Given the description of an element on the screen output the (x, y) to click on. 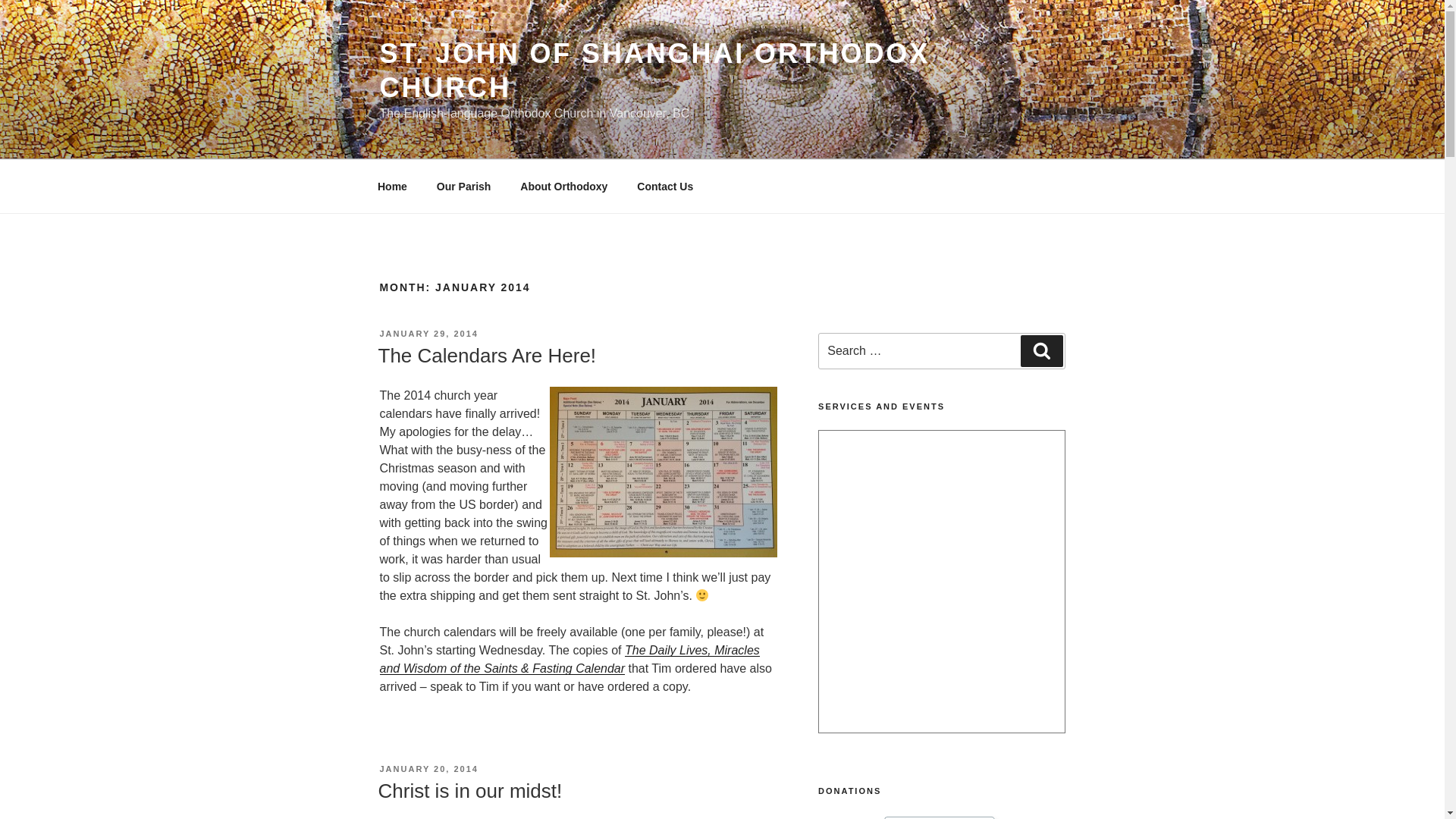
Our Parish (463, 186)
JANUARY 29, 2014 (427, 333)
About Orthodoxy (563, 186)
The Calendars Are Here! (486, 354)
Contact Us (665, 186)
Home (392, 186)
Christ is in our midst! (469, 790)
ST. JOHN OF SHANGHAI ORTHODOX CHURCH (654, 70)
Search (1041, 350)
JANUARY 20, 2014 (427, 768)
